Given the description of an element on the screen output the (x, y) to click on. 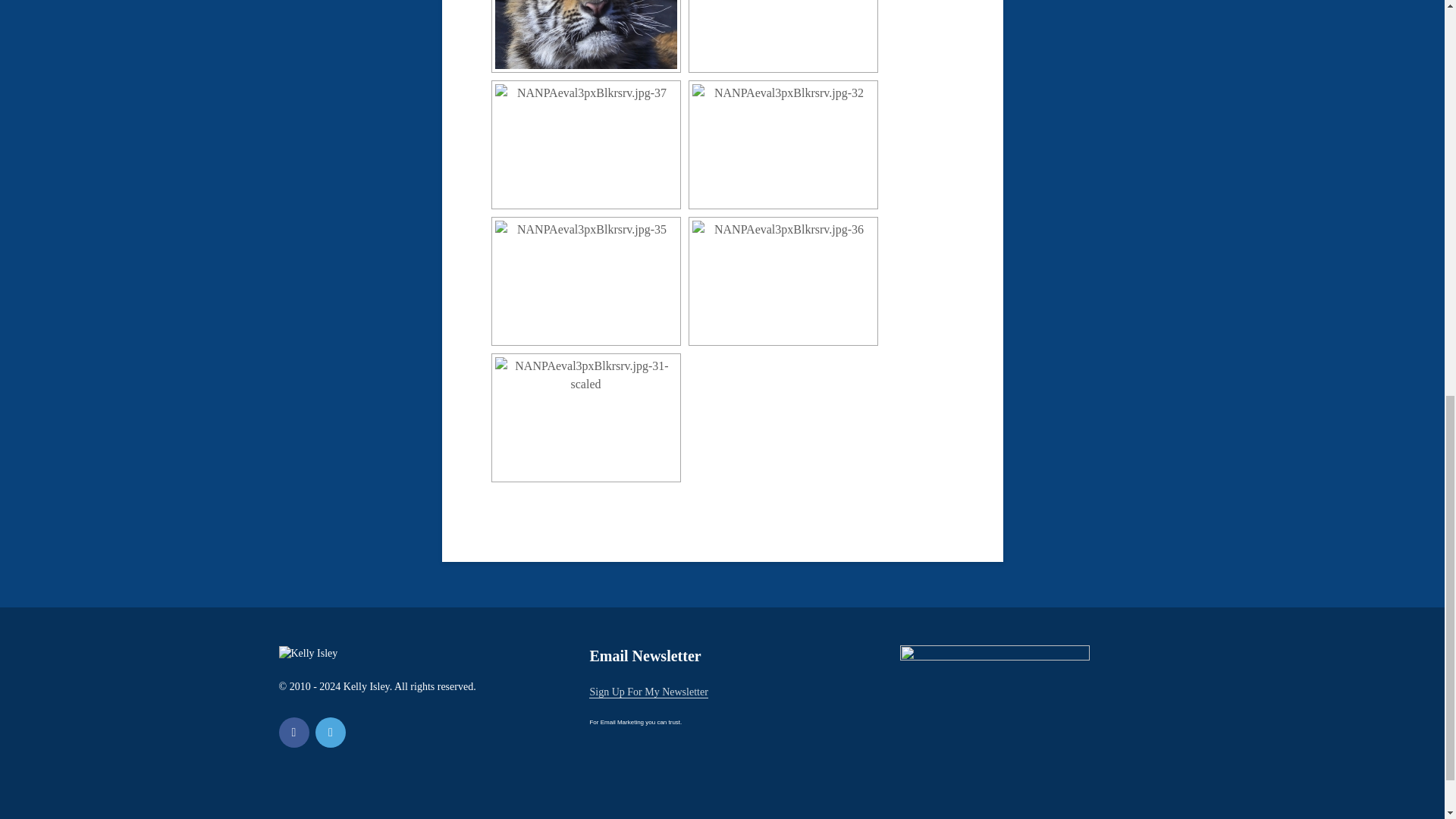
Twitter (330, 732)
NANPAeval3pxBlkrsrv.jpg-37 (586, 144)
NANPAeval3pxBlkrsrv.jpg-35 (586, 281)
NANPAeval3pxBlkrsrv.jpg-31-scaled (586, 417)
NANPAeval3pxBlkrsrv.jpg-34 (782, 34)
Facebook (293, 732)
NANPAeval3pxBlkrsrv.jpg-32 (782, 144)
NANPAeval3pxBlkrsrv.jpg-36 (782, 281)
NANPAeval3pxBlkrsrv.jpg-33 (586, 34)
